Given the description of an element on the screen output the (x, y) to click on. 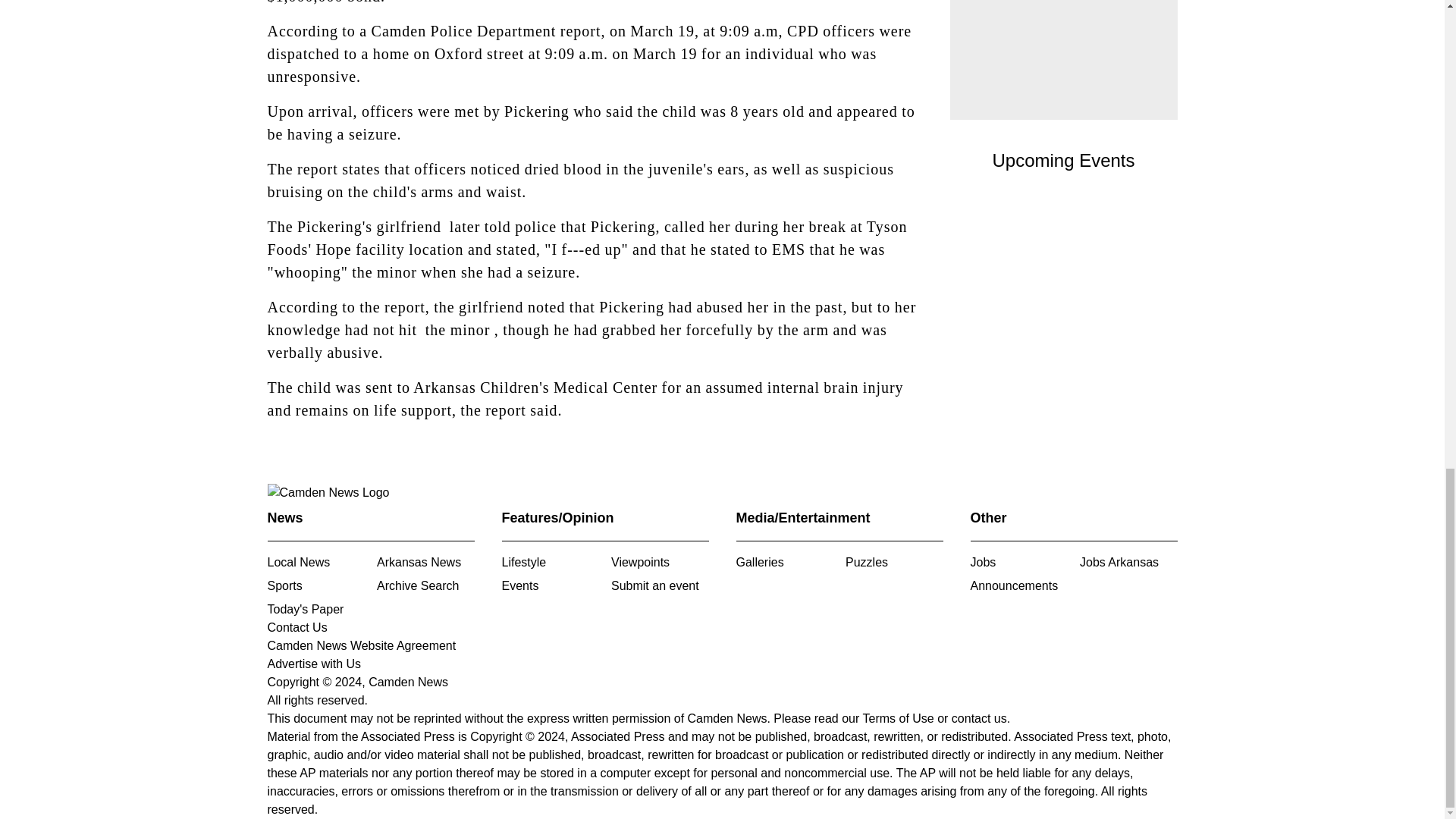
Archive Search (418, 585)
Sports (283, 585)
Arkansas News (419, 562)
Local News (298, 562)
Today's Paper (304, 608)
